Given the description of an element on the screen output the (x, y) to click on. 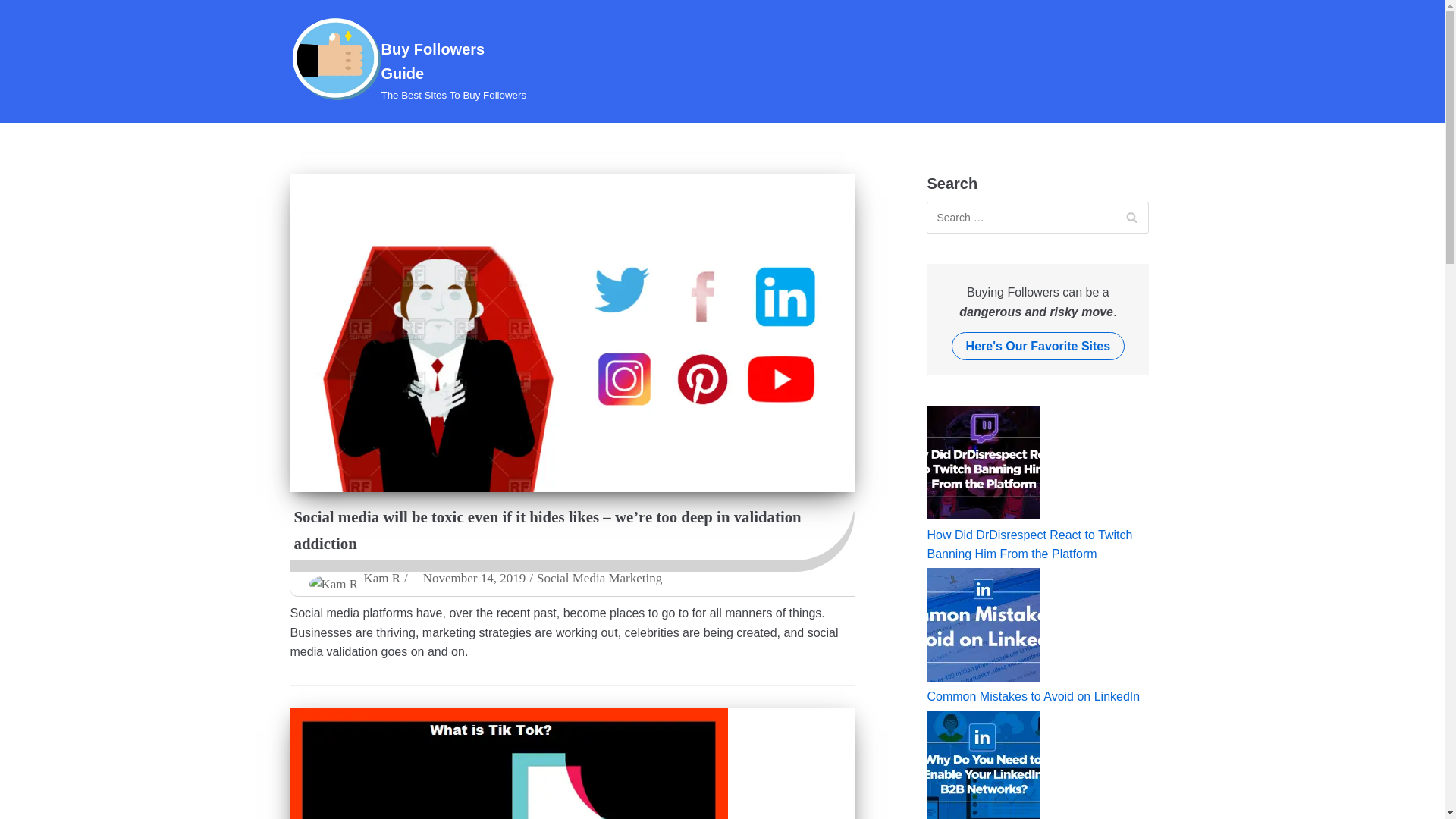
Skip to content (15, 7)
Buy Followers Guide (409, 61)
Common Mistakes to Avoid on LinkedIn (1033, 696)
Here'S Our Favorite Sites (1038, 346)
Search (1131, 217)
Kam R (381, 577)
Social Media Marketing (409, 61)
Search (599, 577)
